Given the description of an element on the screen output the (x, y) to click on. 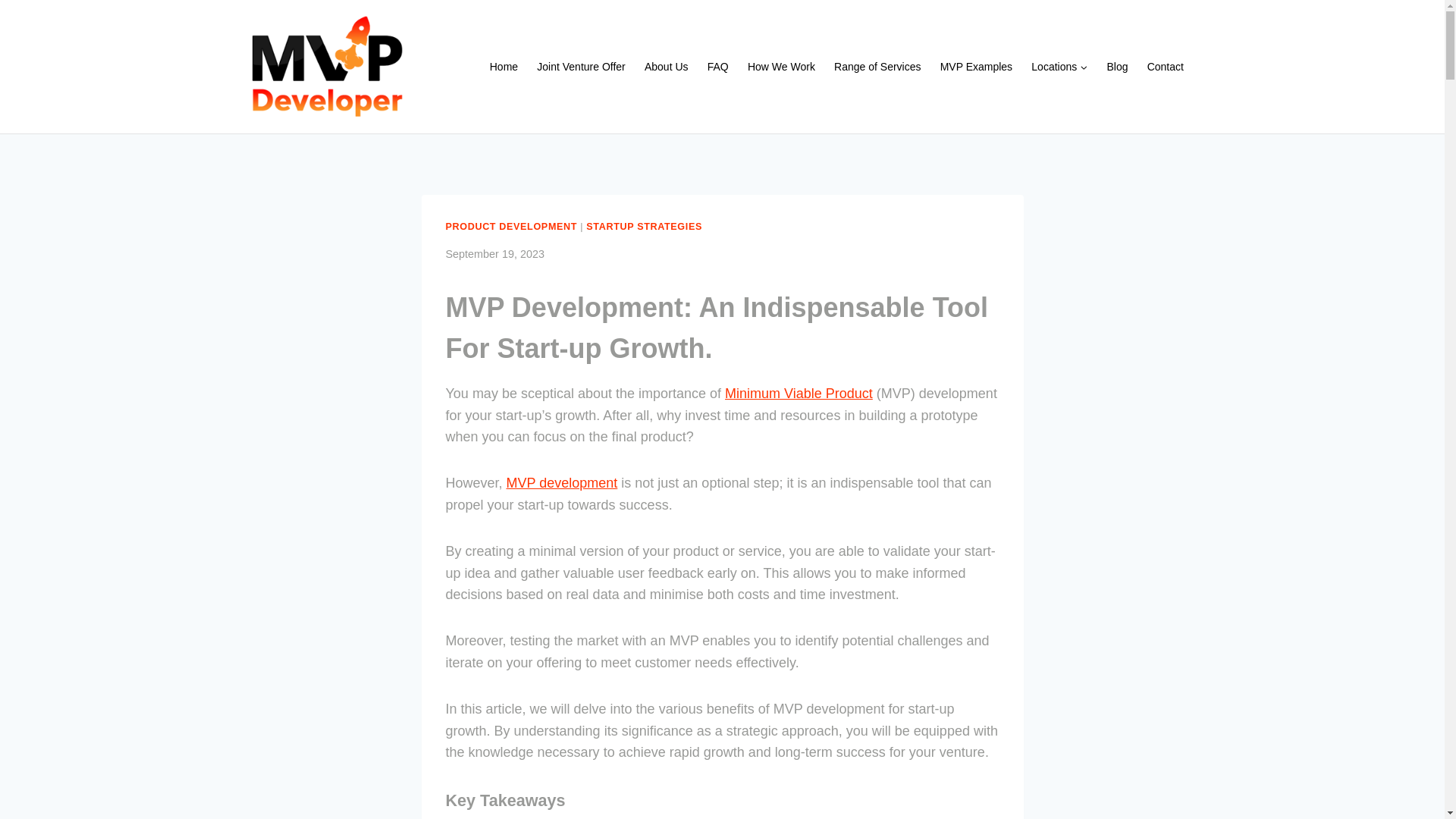
FAQ (717, 66)
How We Work (781, 66)
Home (503, 66)
MVP Examples (976, 66)
About Us (665, 66)
Range of Services (877, 66)
Locations (1059, 66)
Joint Venture Offer (580, 66)
